Given the description of an element on the screen output the (x, y) to click on. 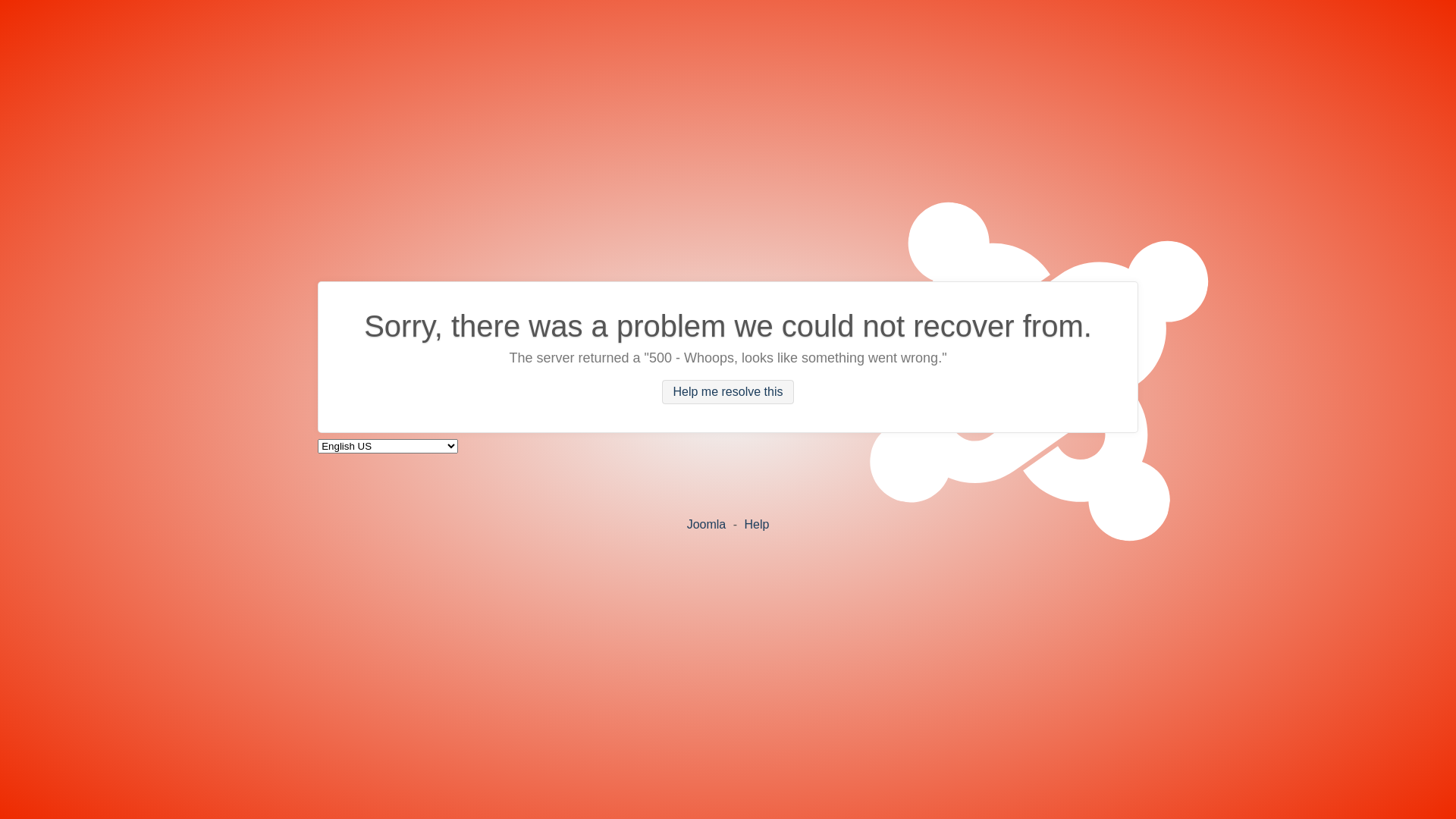
Help Element type: text (755, 523)
Help me resolve this Element type: text (727, 391)
Joomla Element type: text (706, 523)
